Given the description of an element on the screen output the (x, y) to click on. 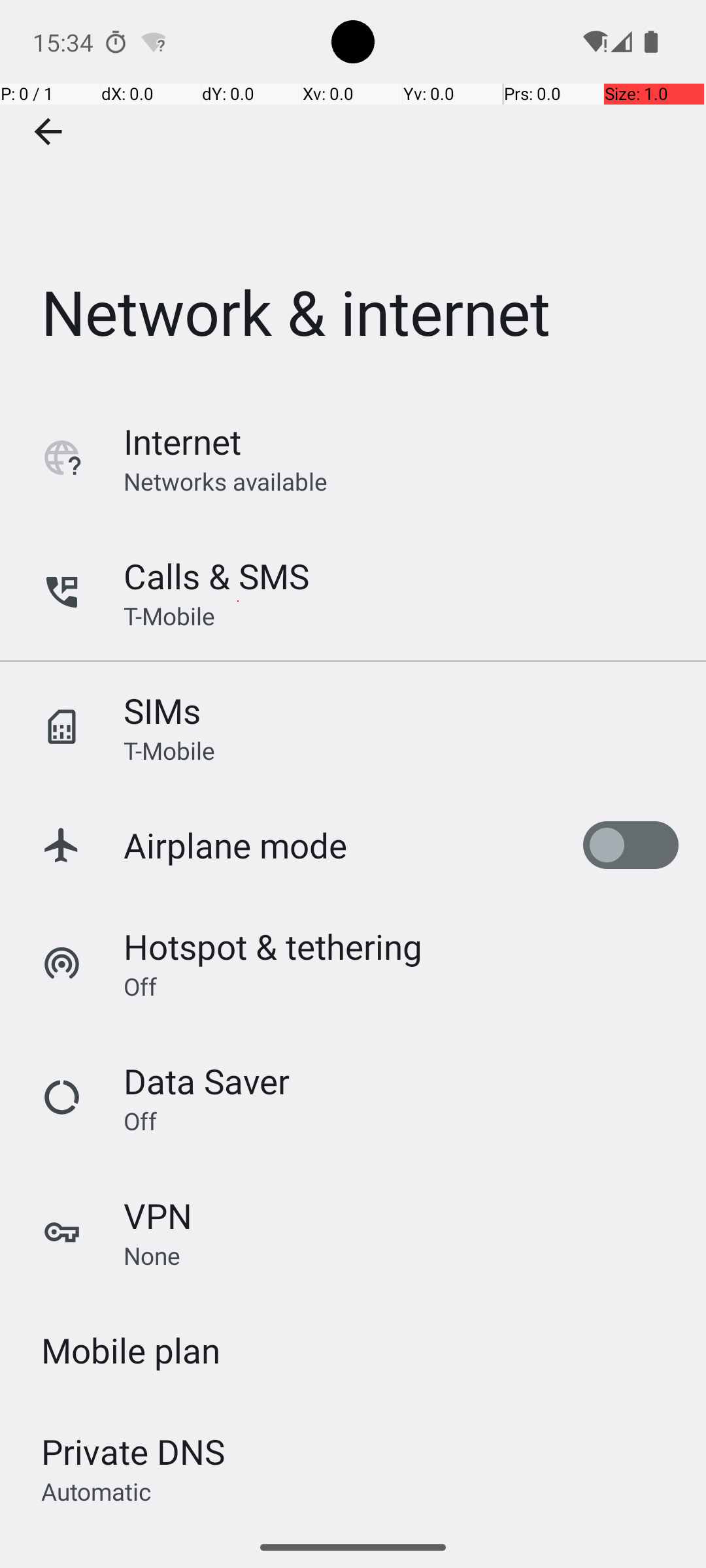
Network & internet Element type: android.widget.FrameLayout (353, 195)
Internet Element type: android.widget.TextView (182, 441)
Networks available Element type: android.widget.TextView (225, 480)
Calls & SMS Element type: android.widget.TextView (216, 575)
T-Mobile Element type: android.widget.TextView (169, 615)
SIMs Element type: android.widget.TextView (161, 710)
Airplane mode Element type: android.widget.TextView (235, 844)
Hotspot & tethering Element type: android.widget.TextView (272, 946)
Off Element type: android.widget.TextView (139, 985)
Data Saver Element type: android.widget.TextView (206, 1080)
VPN Element type: android.widget.TextView (157, 1215)
Mobile plan Element type: android.widget.TextView (130, 1349)
Private DNS Element type: android.widget.TextView (132, 1451)
Automatic Element type: android.widget.TextView (96, 1490)
